Given the description of an element on the screen output the (x, y) to click on. 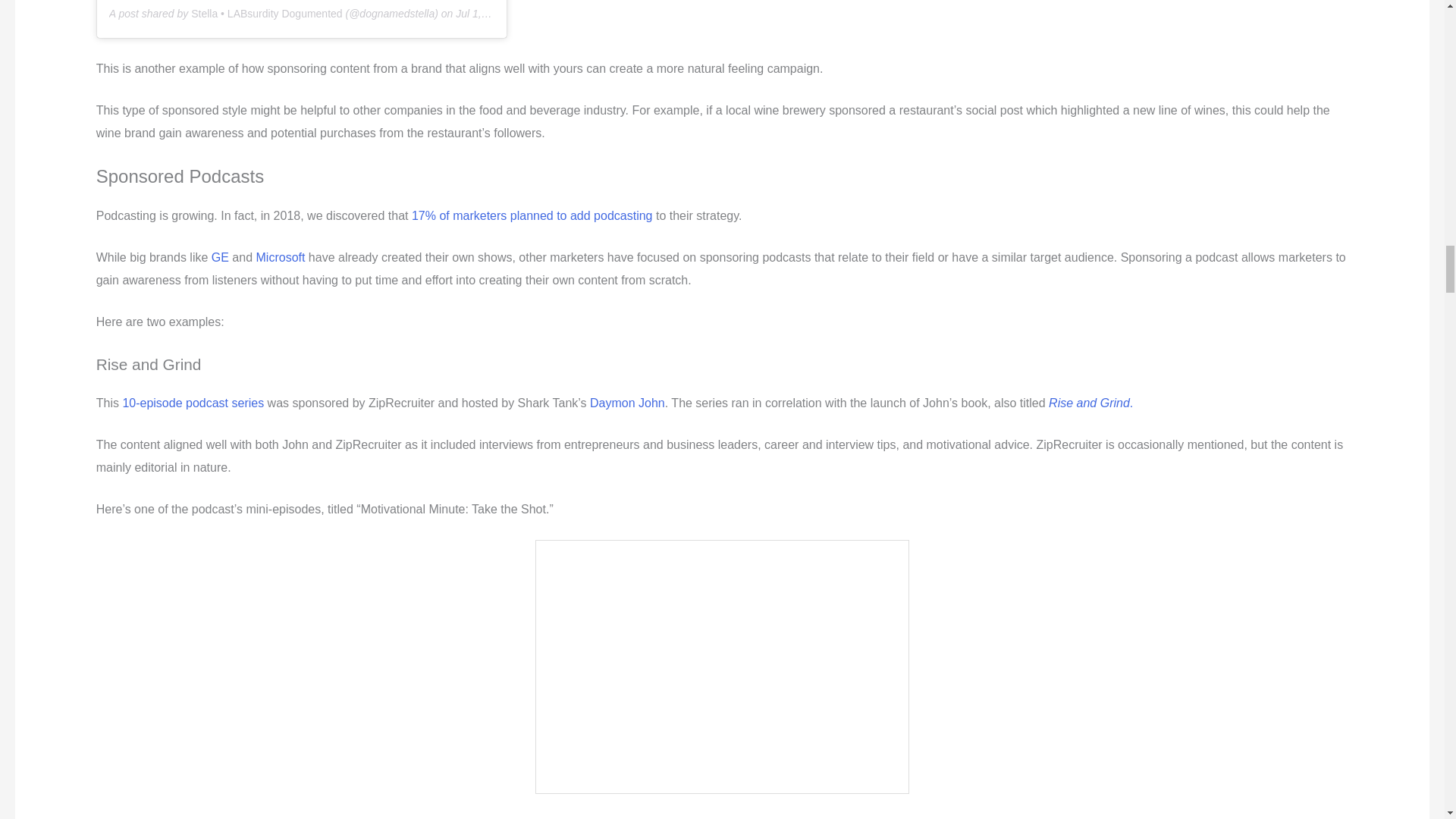
Microsoft (280, 256)
GE (219, 256)
